Given the description of an element on the screen output the (x, y) to click on. 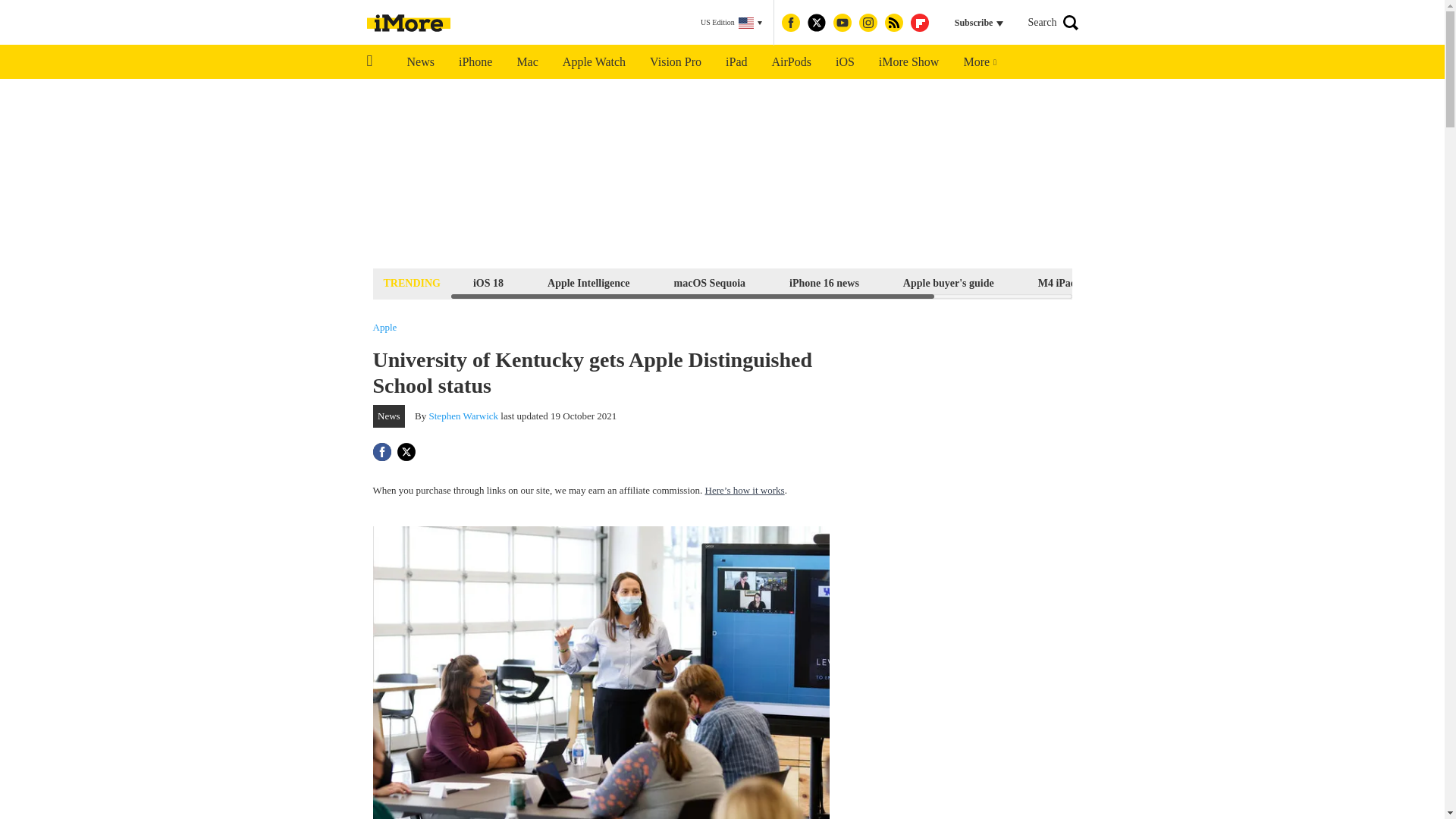
Mac (526, 61)
US Edition (731, 22)
iPhone (474, 61)
iMore Show (909, 61)
News (419, 61)
Apple Watch (593, 61)
AirPods (792, 61)
Vision Pro (675, 61)
iPad (735, 61)
iOS (845, 61)
